Given the description of an element on the screen output the (x, y) to click on. 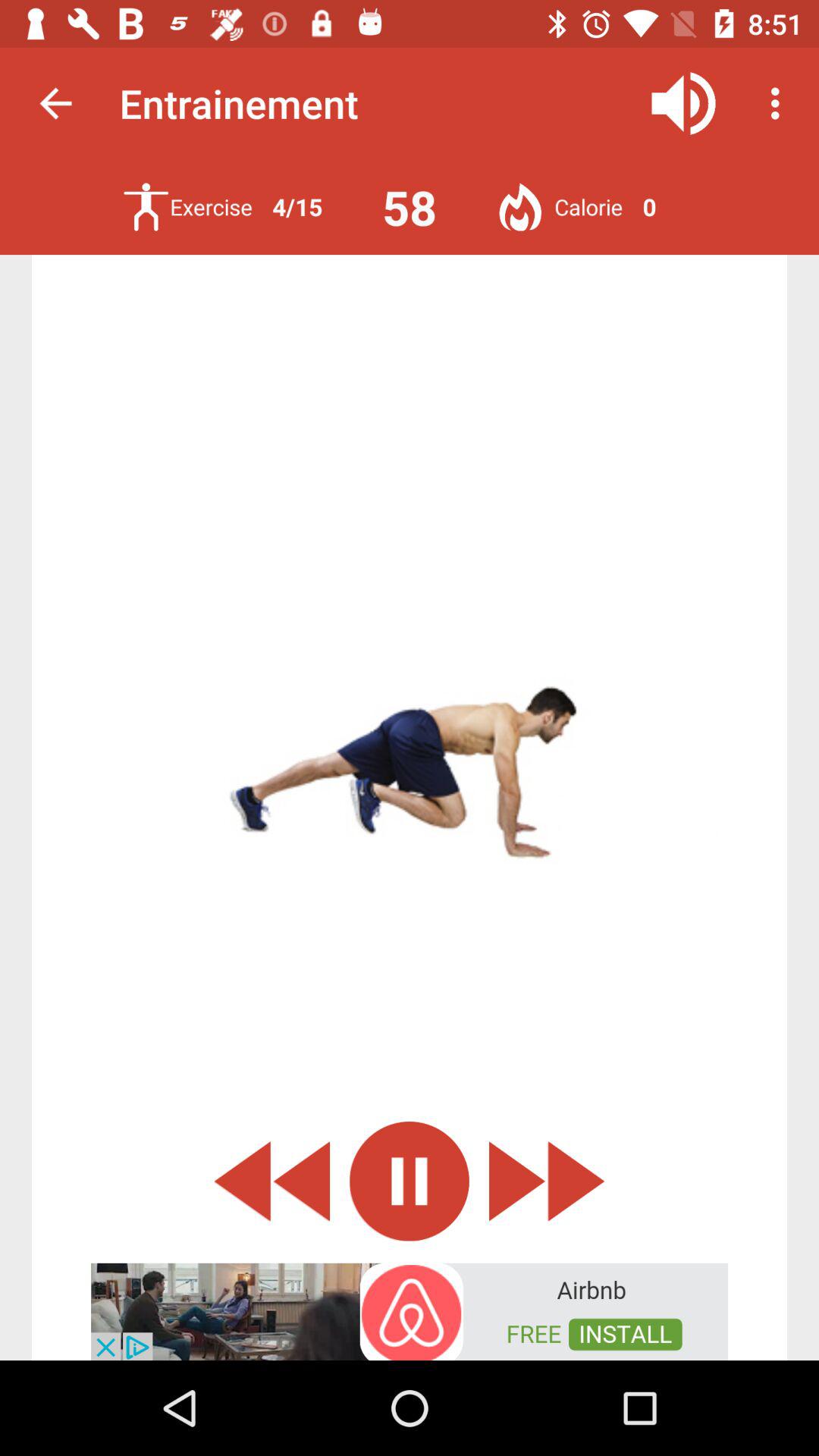
volume (683, 103)
